Given the description of an element on the screen output the (x, y) to click on. 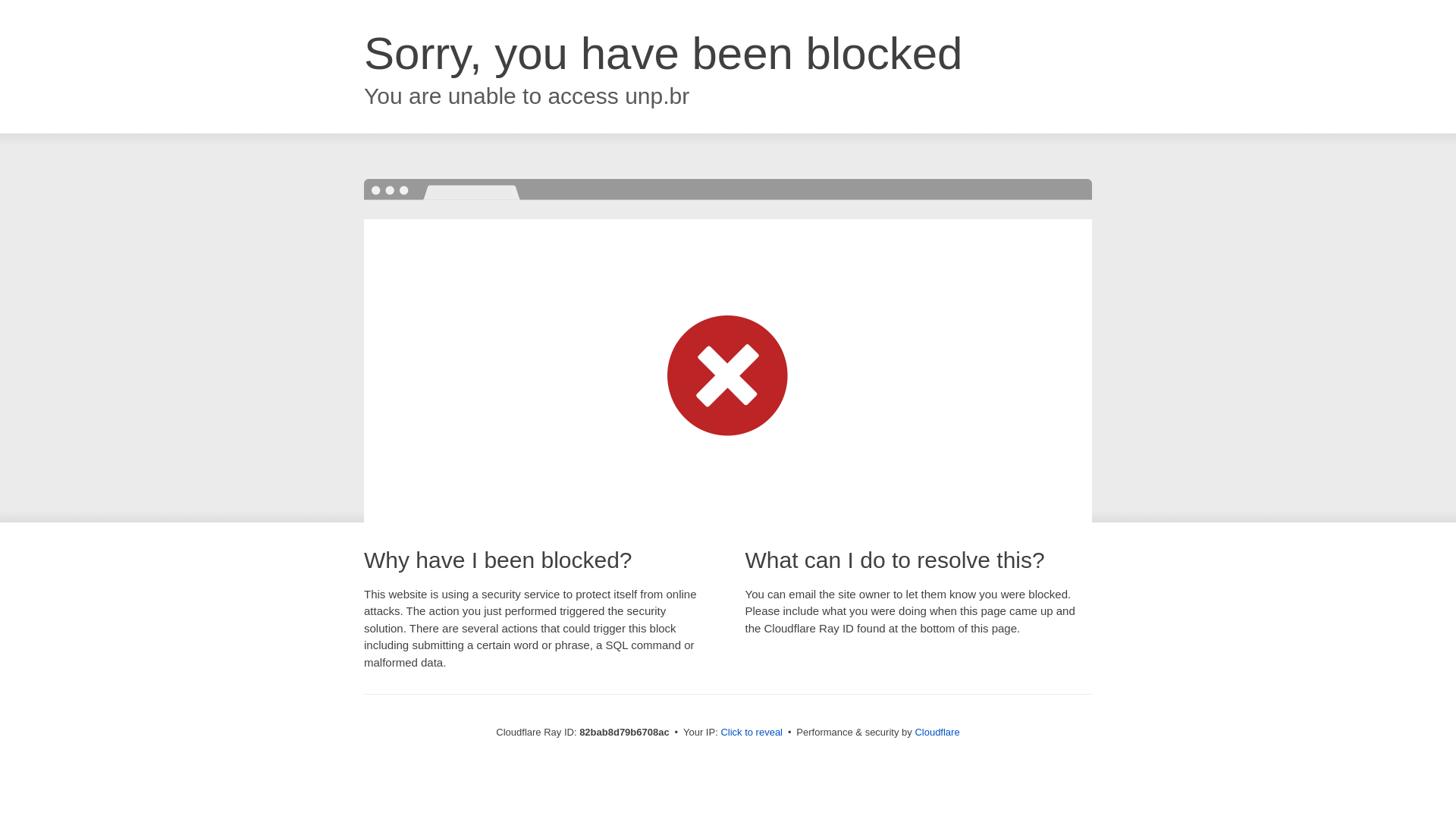
Click to reveal Element type: text (751, 732)
Cloudflare Element type: text (936, 731)
